Given the description of an element on the screen output the (x, y) to click on. 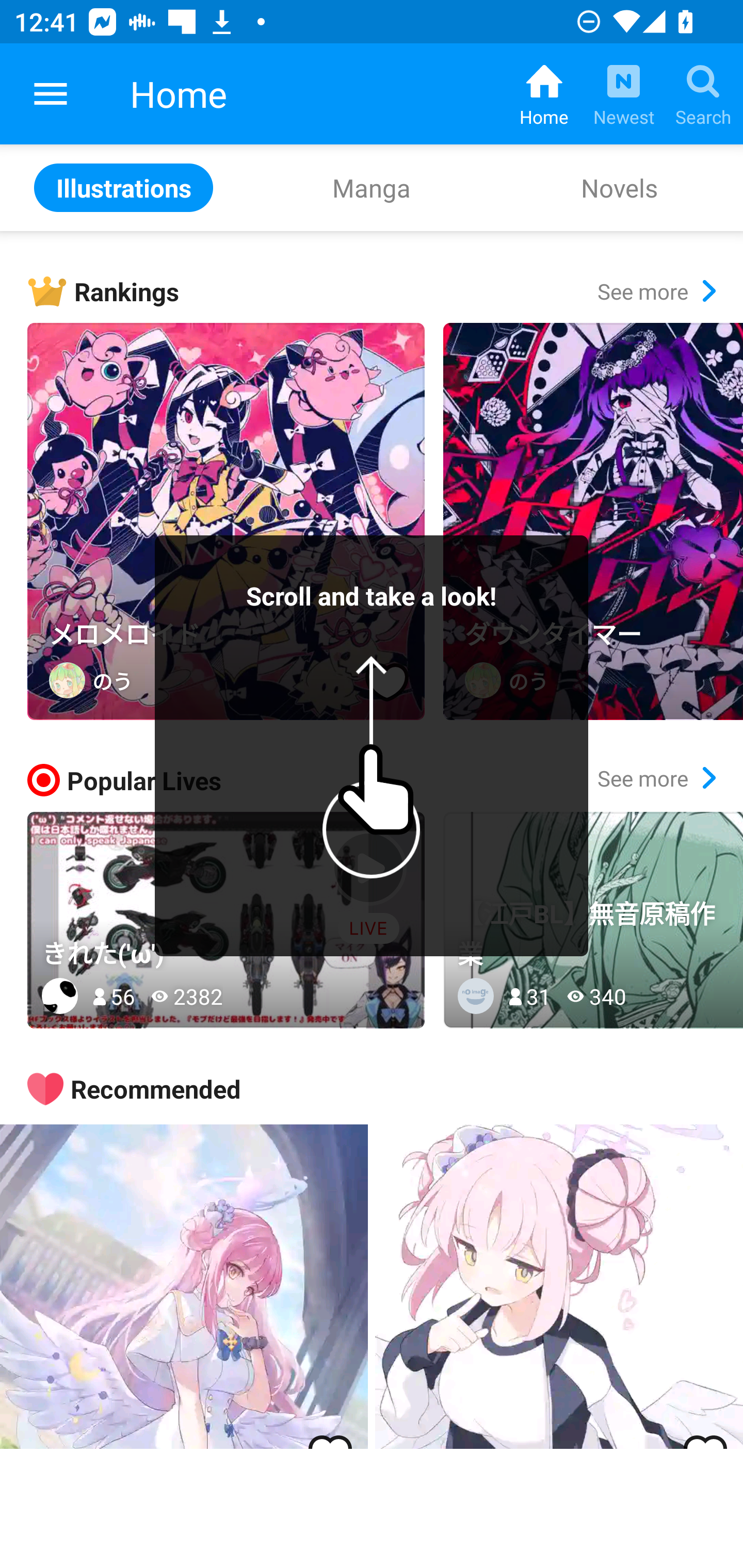
pixiv (50, 93)
Newest (623, 93)
Search (703, 93)
Illustrations (123, 187)
Manga (371, 187)
Novels (619, 187)
Rankings See more (385, 291)
See more (656, 778)
